Given the description of an element on the screen output the (x, y) to click on. 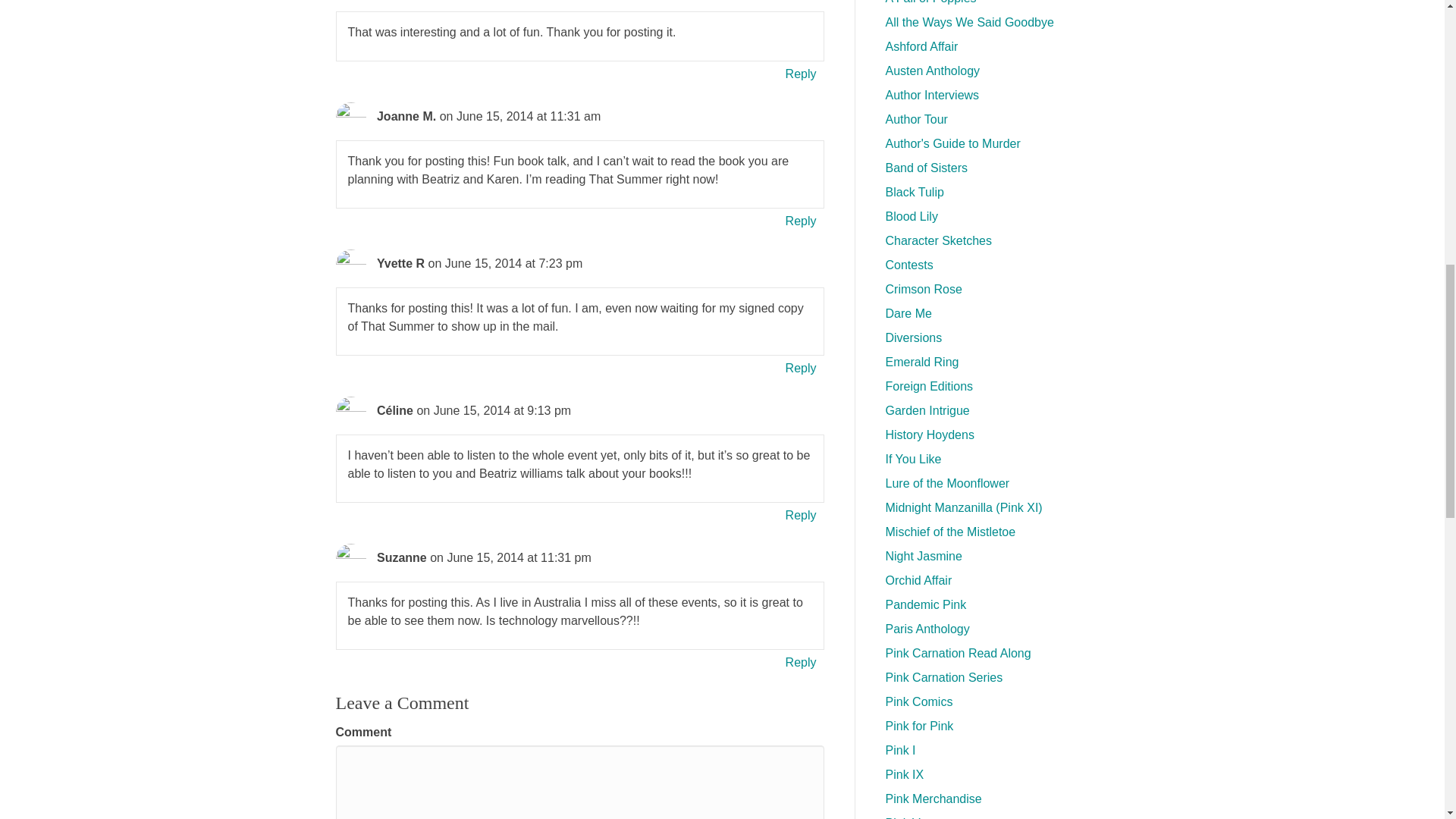
Reply (801, 367)
Reply (801, 661)
Reply (801, 515)
Reply (801, 73)
Reply (801, 220)
